Given the description of an element on the screen output the (x, y) to click on. 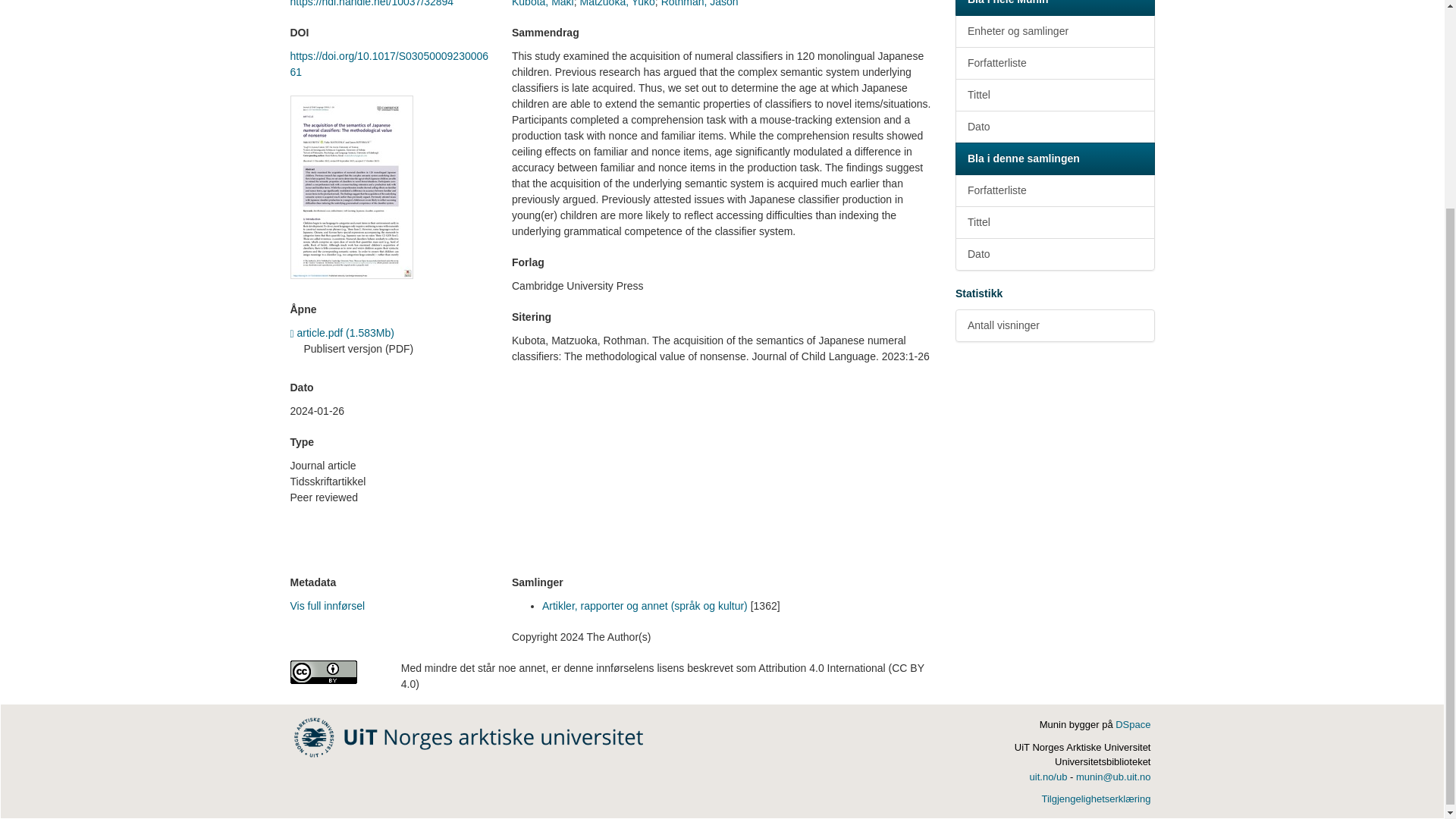
Dato (1054, 126)
Matzuoka, Yuko (616, 3)
Bla i hele Munin (1054, 7)
Forfatterliste (1054, 190)
Tittel (1054, 94)
Bla i denne samlingen (1054, 158)
Kubota, Maki (542, 3)
UiT (468, 736)
Enheter og samlinger (1054, 31)
Rothman, Jason (699, 3)
Forfatterliste (1054, 62)
